Given the description of an element on the screen output the (x, y) to click on. 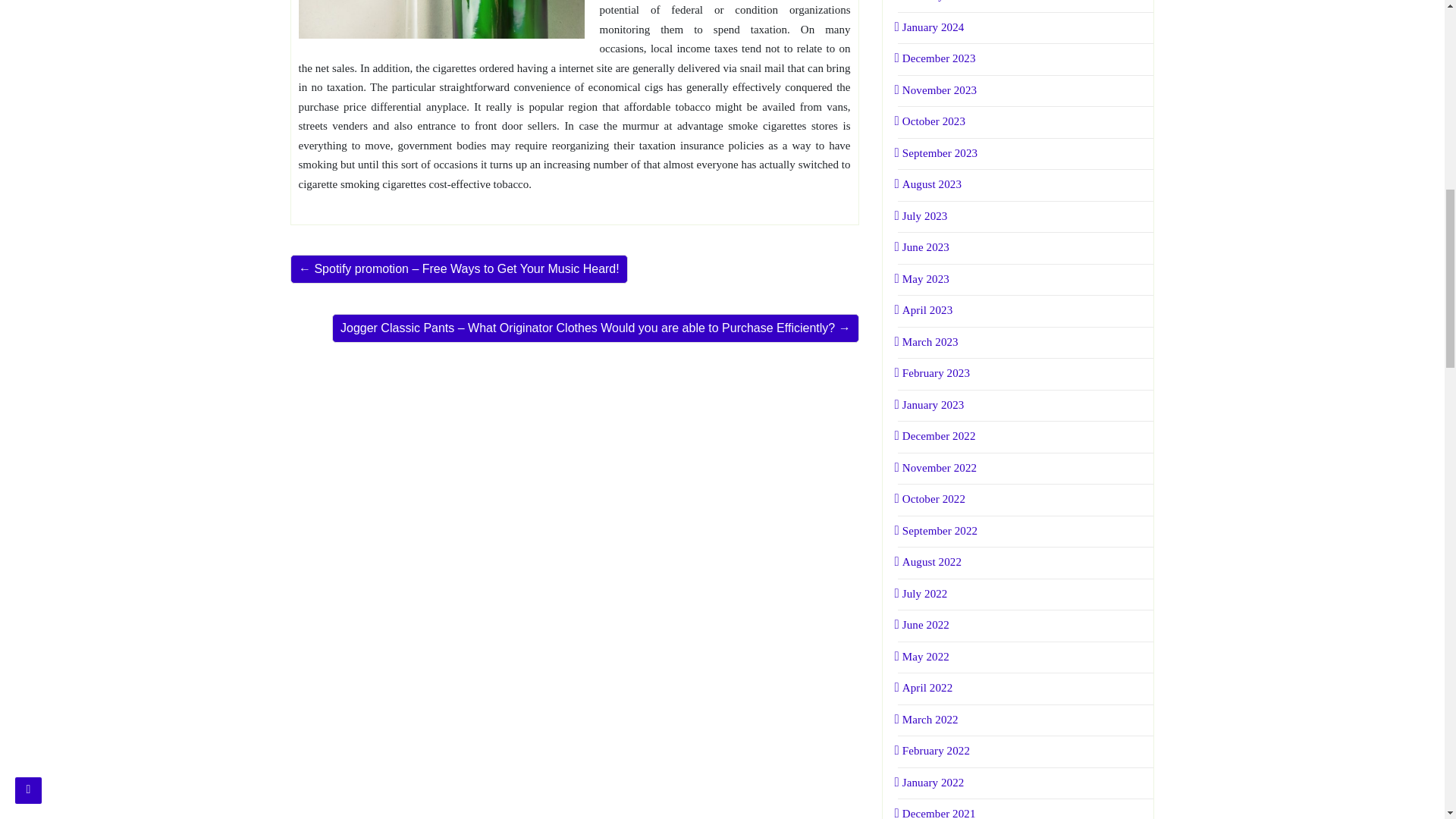
October 2023 (932, 121)
June 2023 (923, 246)
November 2023 (937, 90)
August 2023 (930, 184)
September 2023 (938, 152)
December 2023 (936, 58)
February 2024 (934, 0)
January 2024 (930, 27)
July 2023 (922, 215)
